Given the description of an element on the screen output the (x, y) to click on. 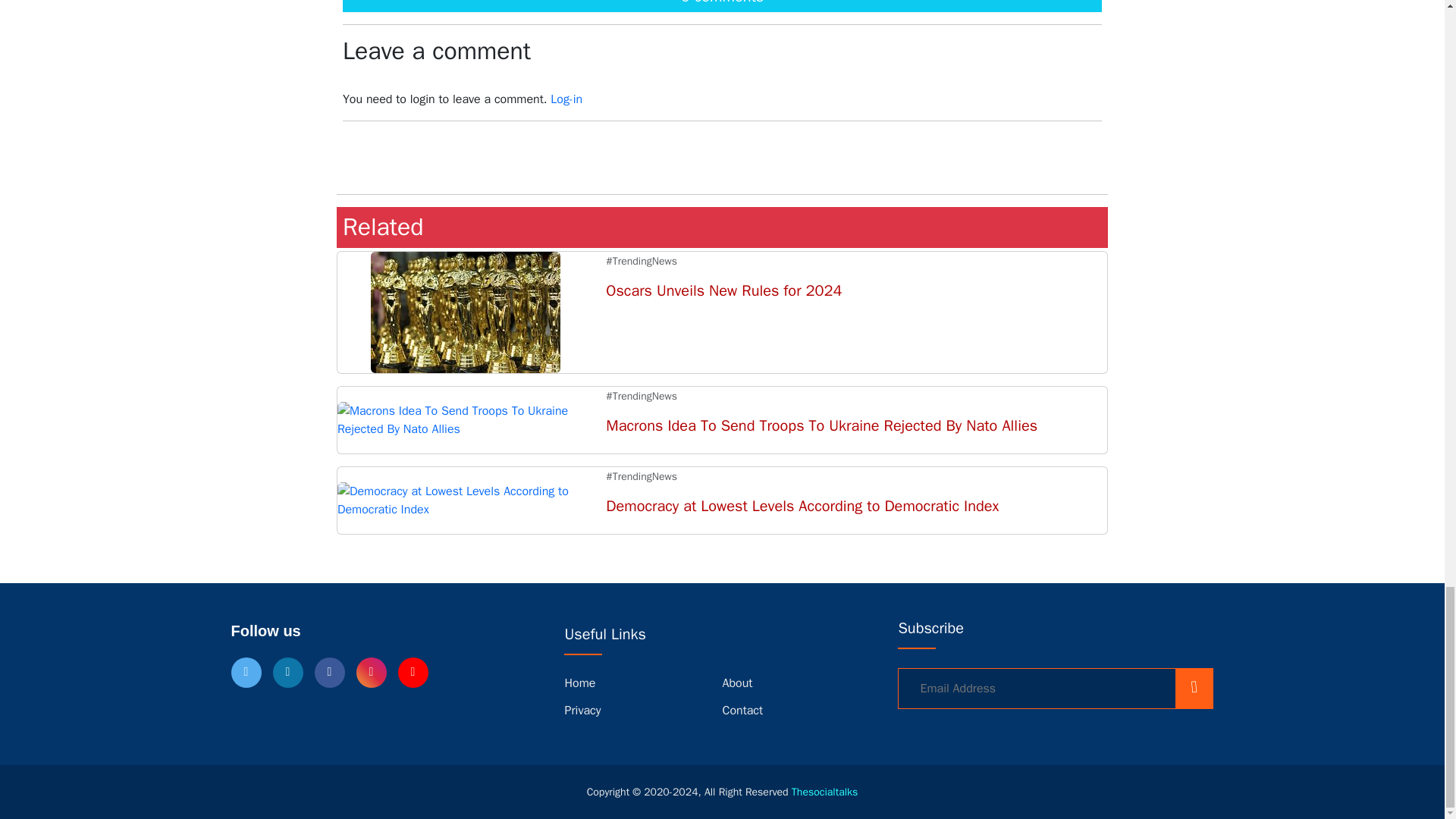
Log-in (566, 99)
